Given the description of an element on the screen output the (x, y) to click on. 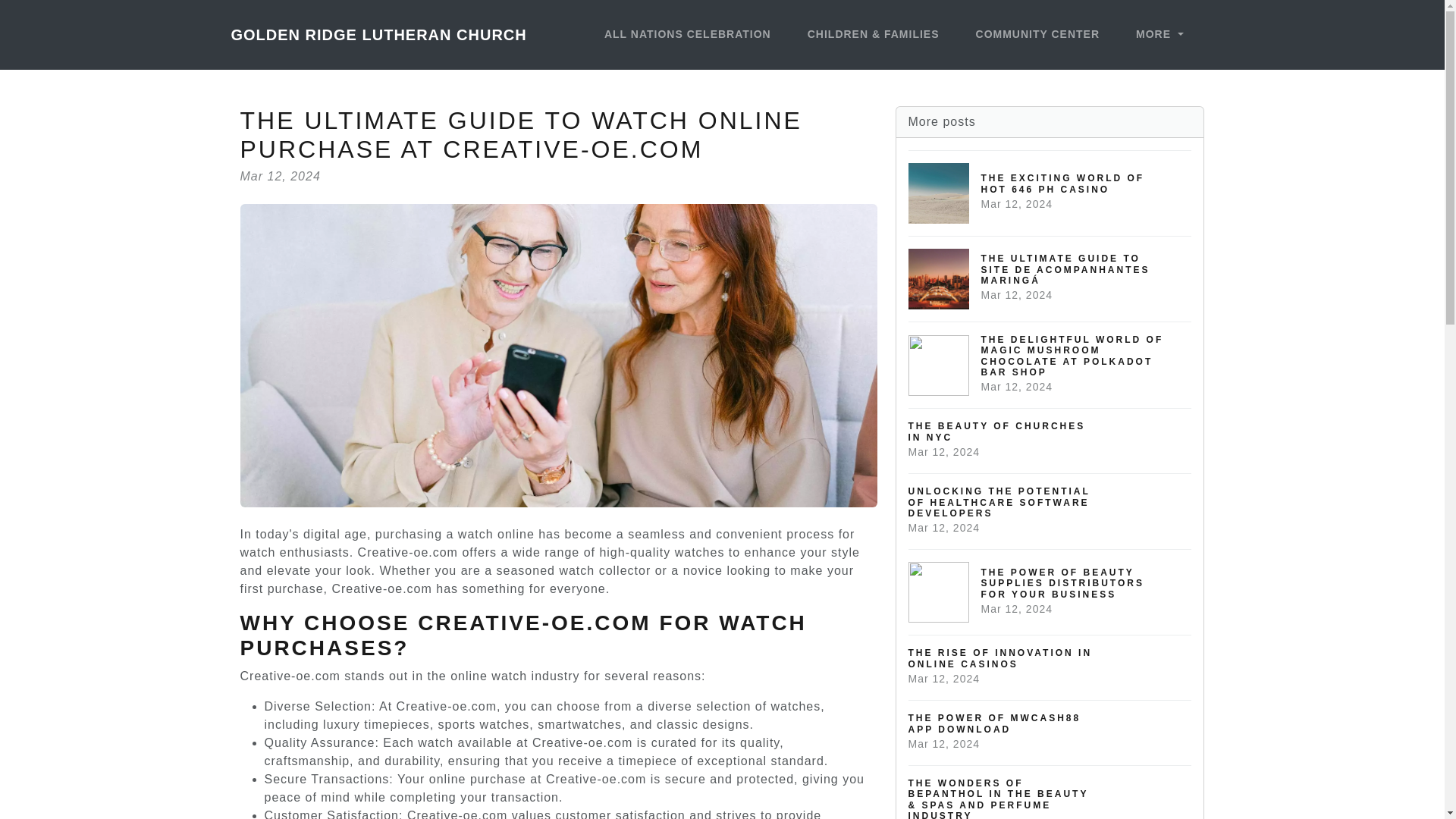
COMMUNITY CENTER (1037, 34)
ALL NATIONS CELEBRATION (687, 34)
GOLDEN RIDGE LUTHERAN CHURCH (1050, 667)
MORE (1050, 192)
